Given the description of an element on the screen output the (x, y) to click on. 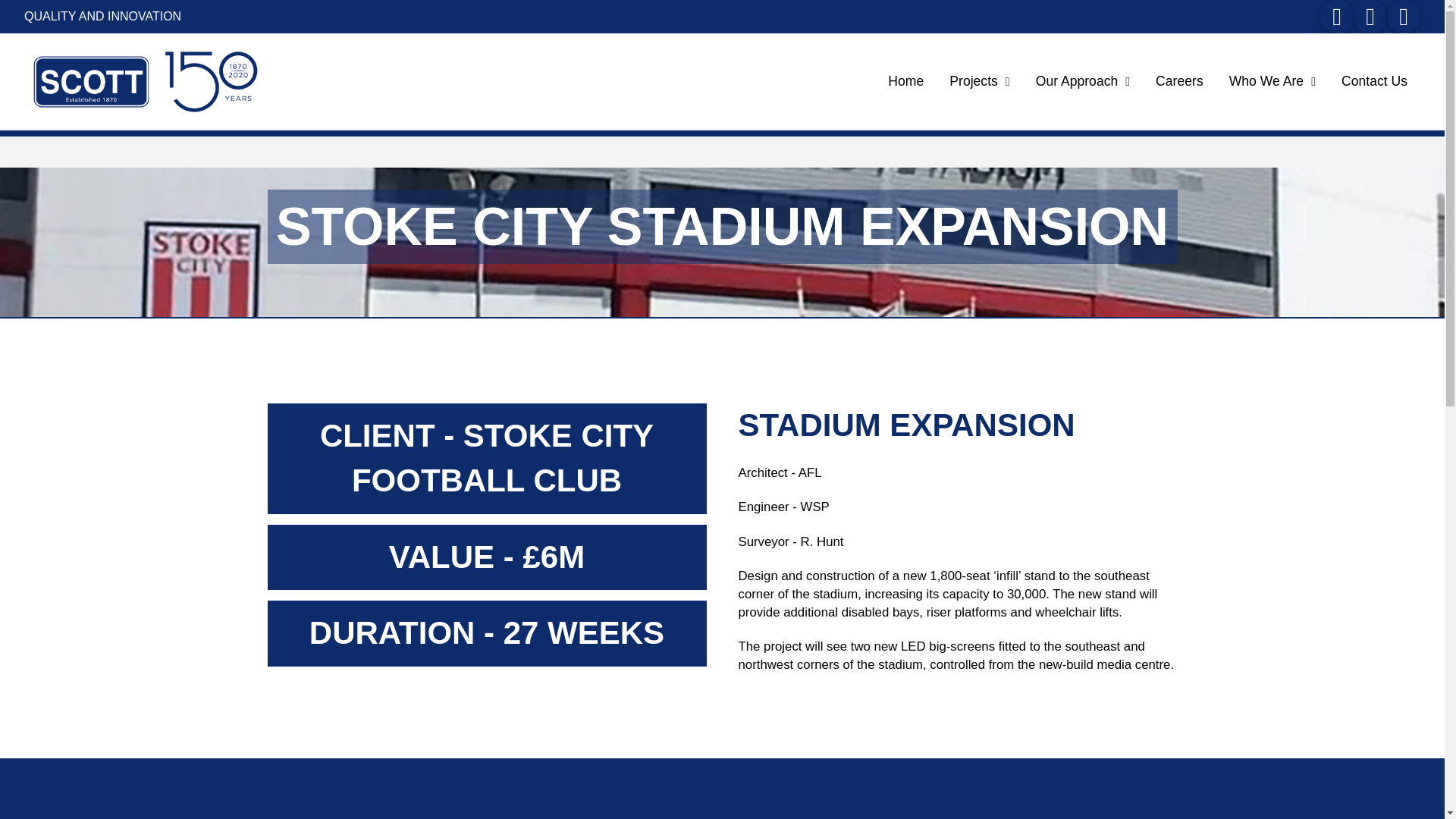
Our Approach (1082, 81)
Contact Us (1374, 81)
Who We Are (1271, 81)
